Given the description of an element on the screen output the (x, y) to click on. 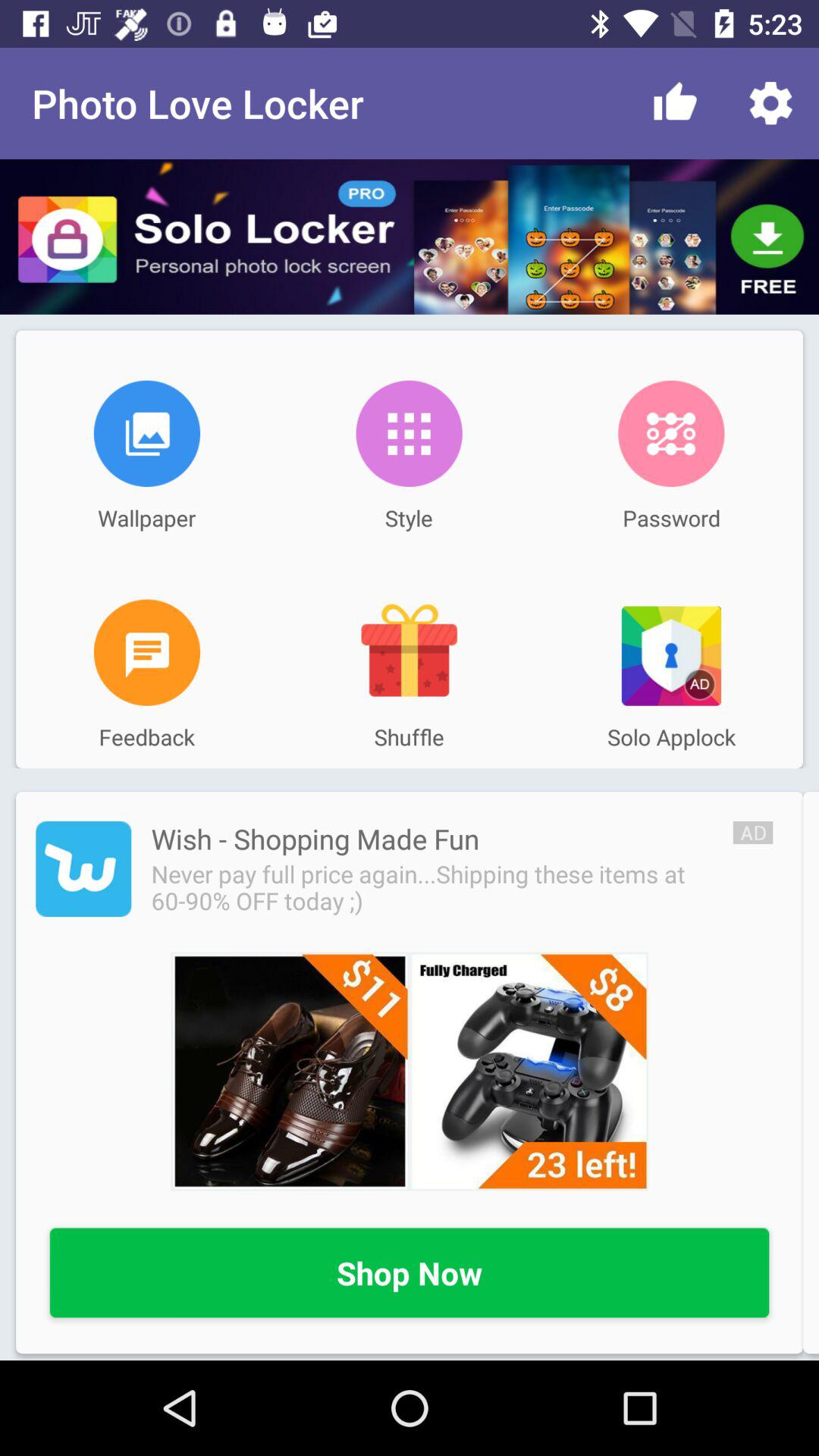
select icon to the left of solo applock item (409, 652)
